Given the description of an element on the screen output the (x, y) to click on. 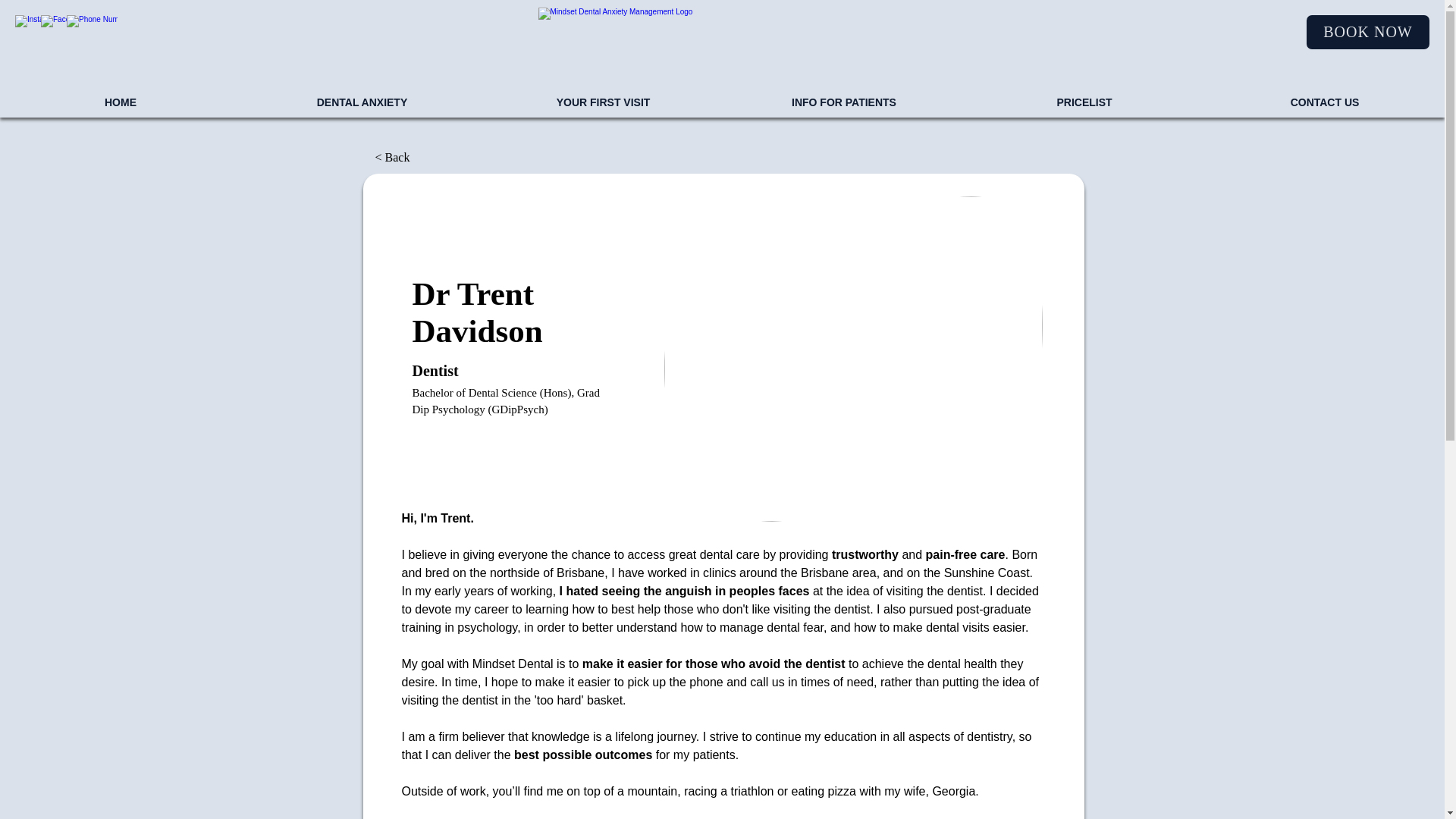
Home (707, 43)
INFO FOR PATIENTS (843, 101)
YOUR FIRST VISIT (602, 101)
PRICELIST (1083, 101)
BOOK NOW (1367, 32)
DENTAL ANXIETY (361, 101)
HOME (120, 101)
